Given the description of an element on the screen output the (x, y) to click on. 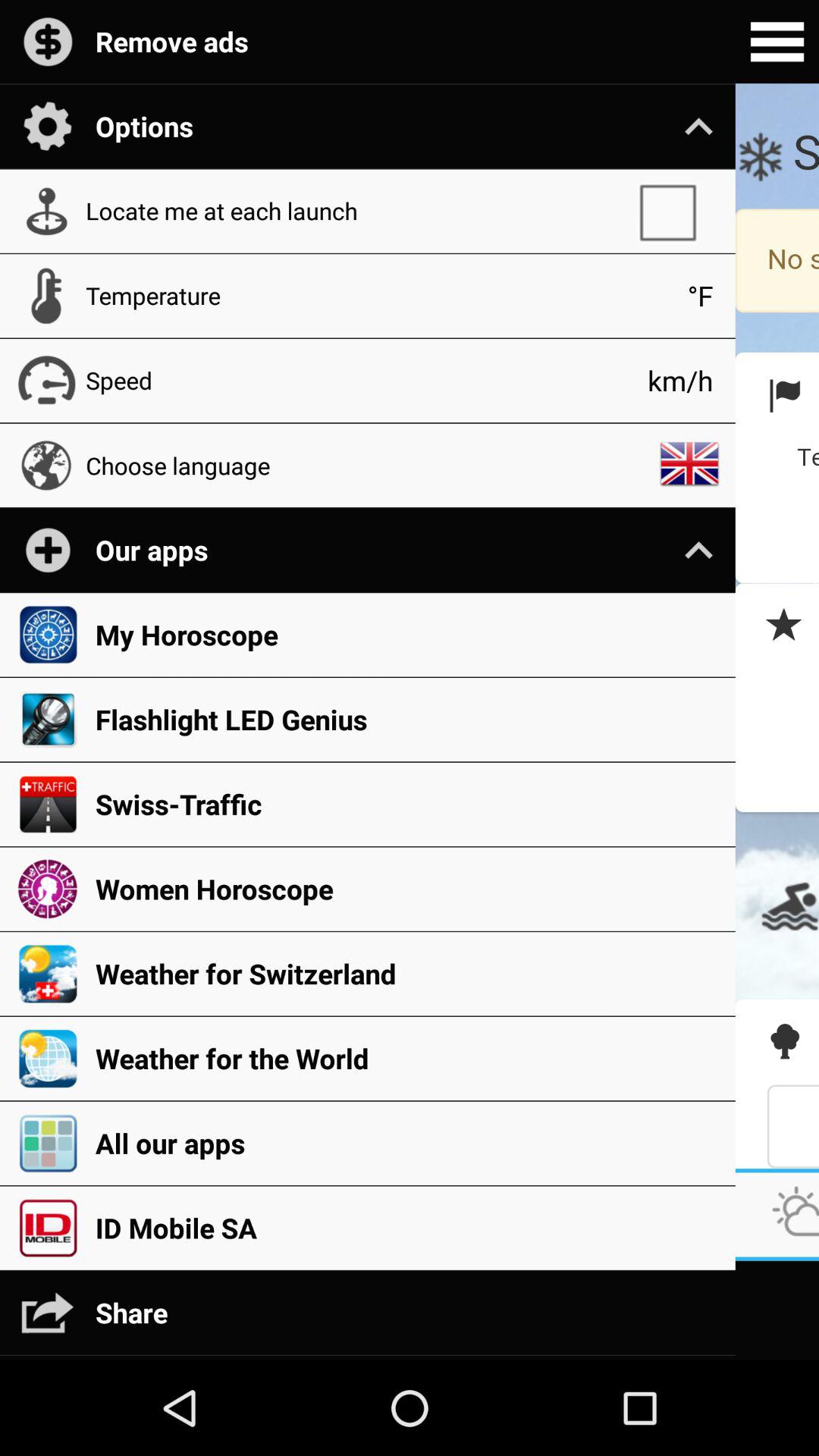
click women horoscope (407, 888)
